Given the description of an element on the screen output the (x, y) to click on. 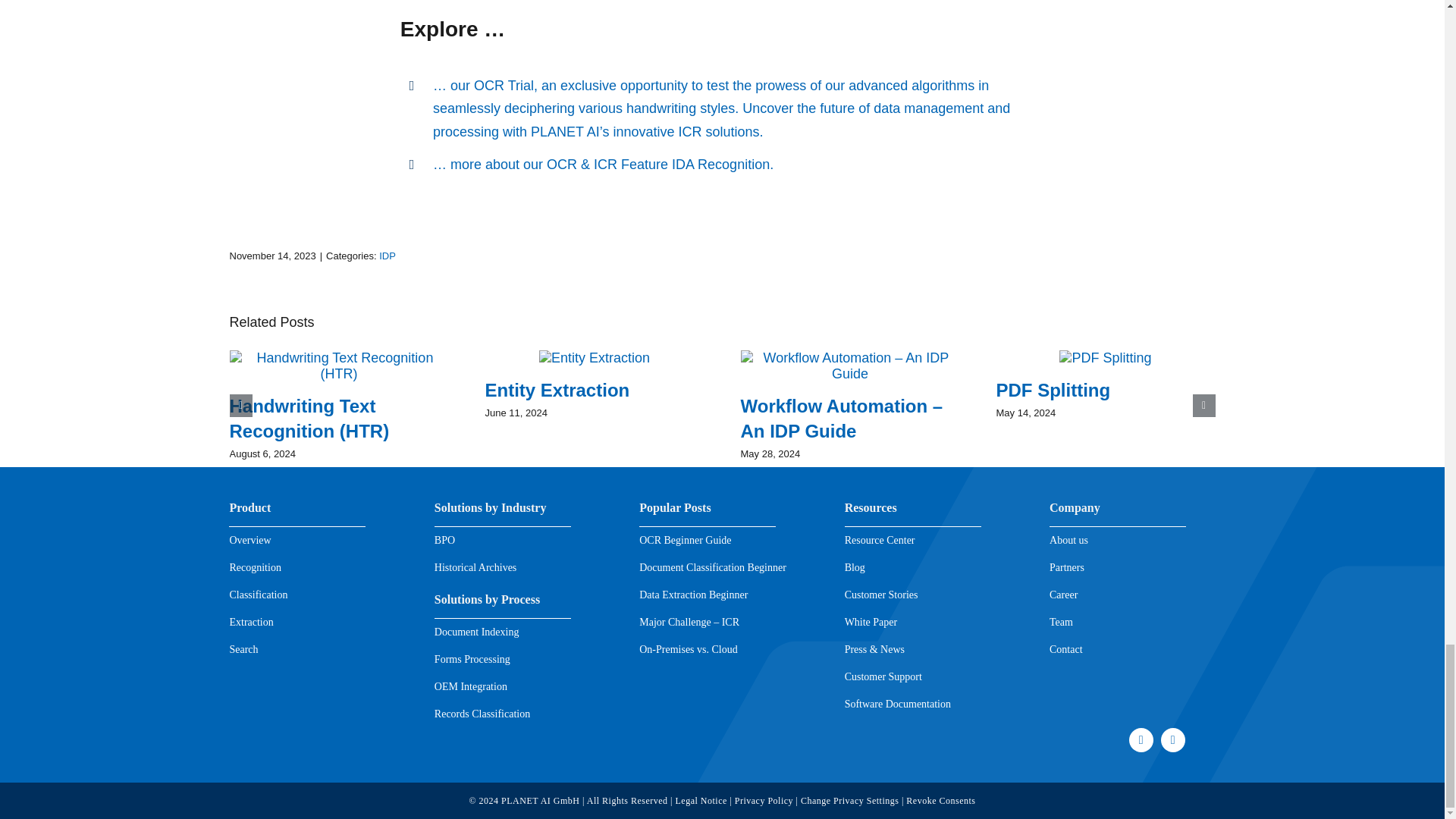
PDF Splitting (1052, 390)
LinkedIn (1172, 740)
YouTube (1141, 740)
Entity Extraction (557, 390)
